Given the description of an element on the screen output the (x, y) to click on. 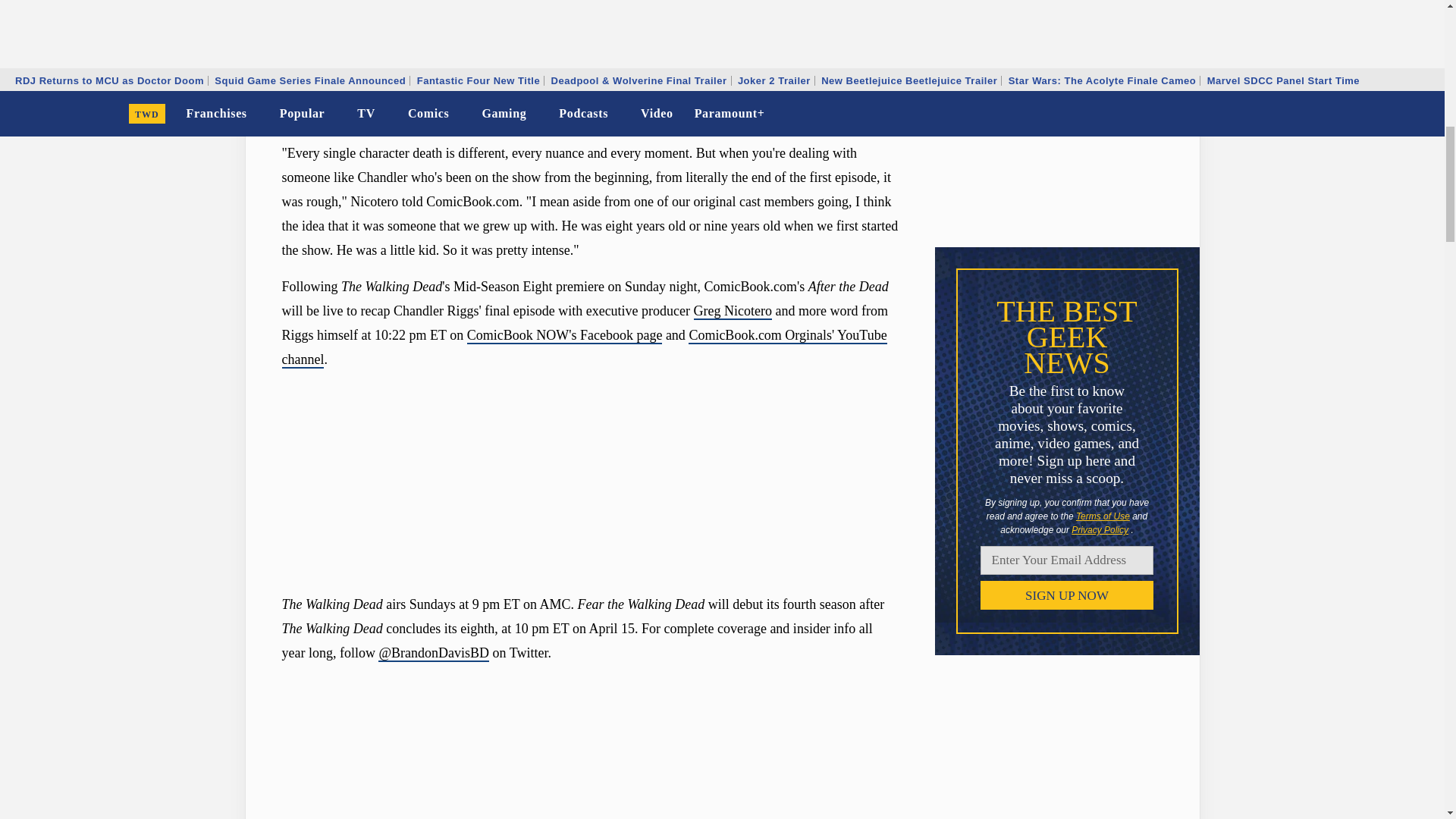
Video Player (590, 748)
